Given the description of an element on the screen output the (x, y) to click on. 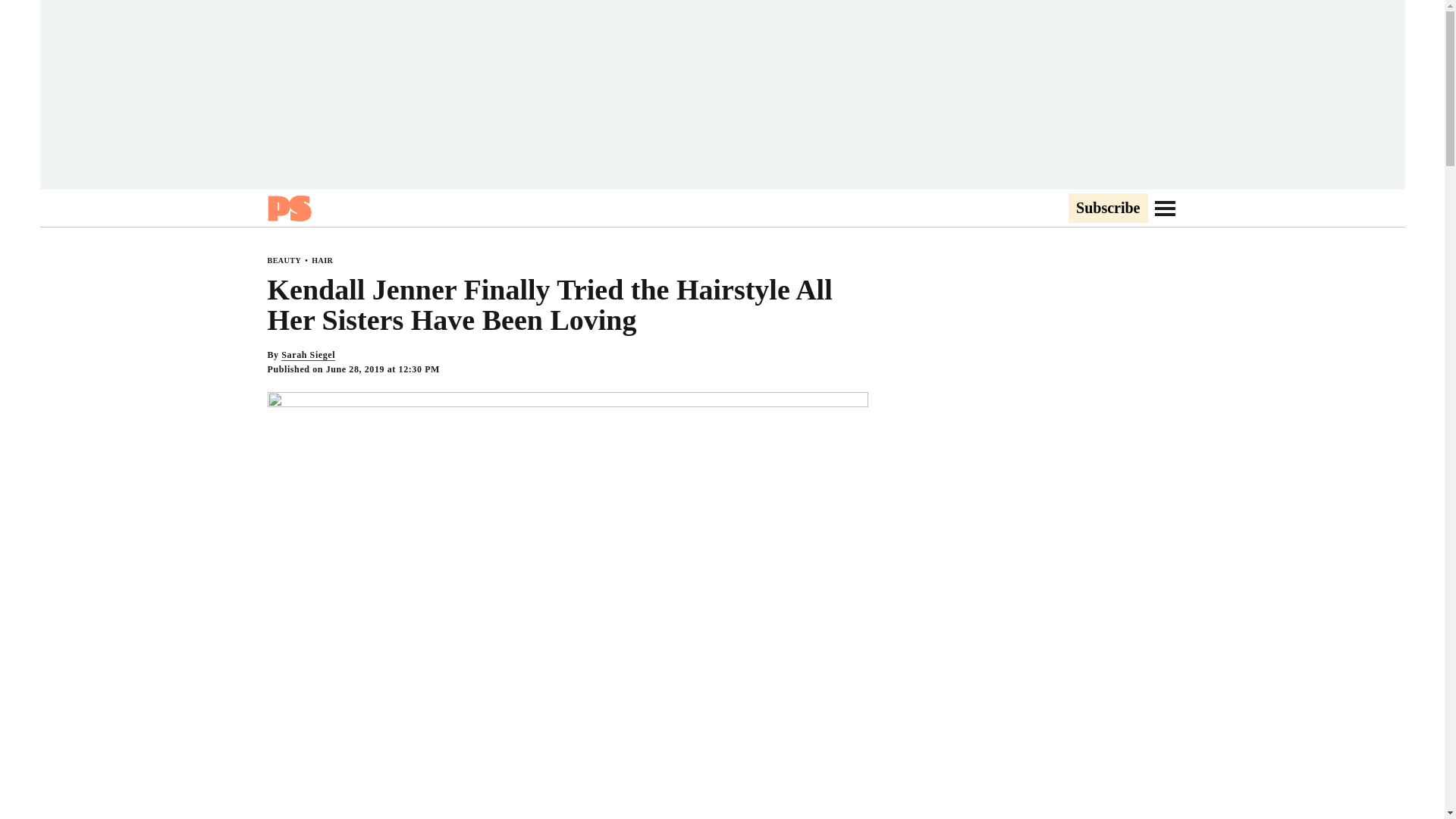
HAIR (322, 260)
Popsugar (288, 208)
Sarah Siegel (307, 355)
Go to Navigation (1164, 207)
Subscribe (1107, 208)
BEAUTY (283, 260)
Go to Navigation (1164, 207)
